Given the description of an element on the screen output the (x, y) to click on. 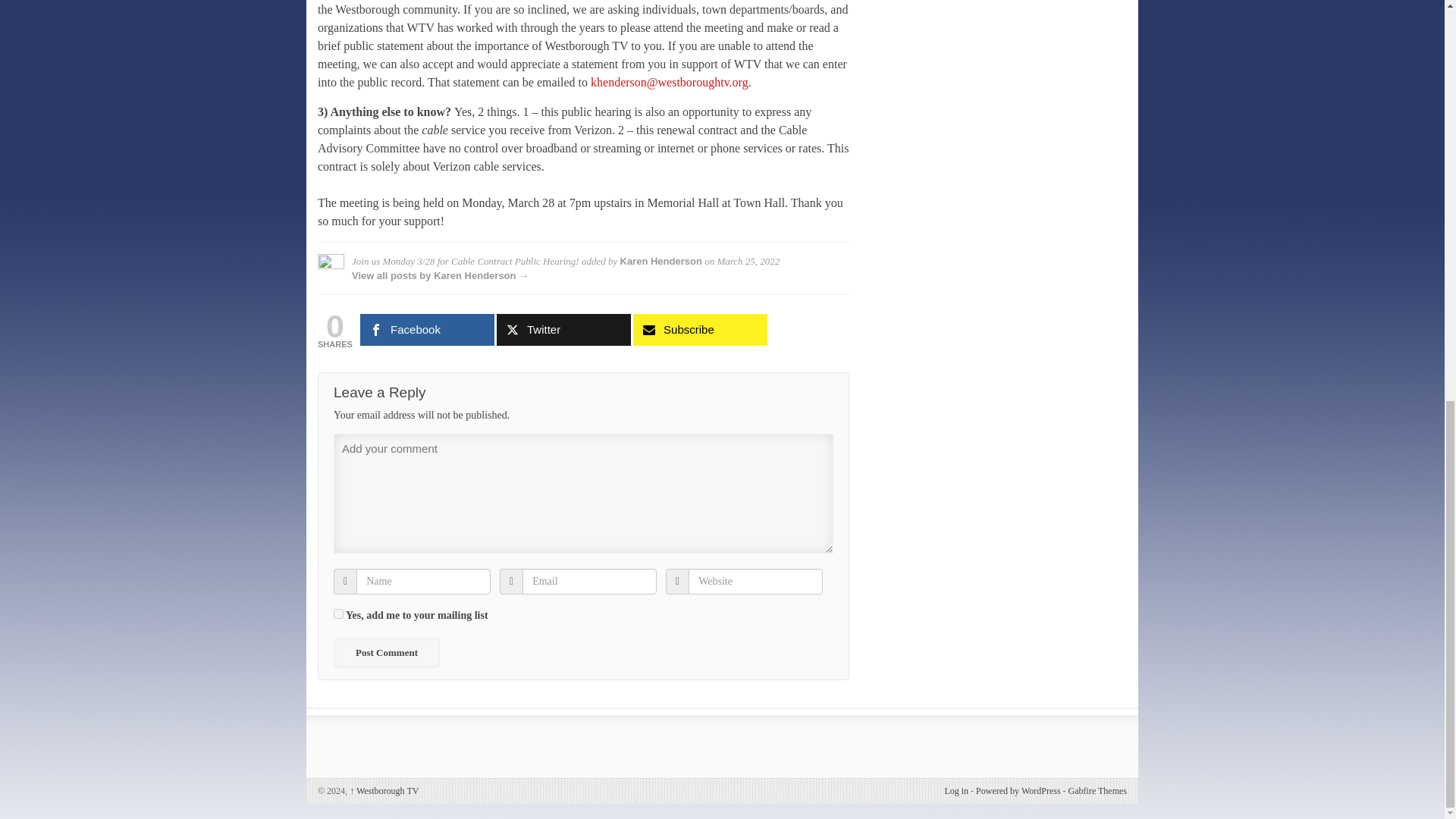
Post Comment (386, 653)
WordPress Newspaper Themes (1097, 790)
Westborough TV (384, 790)
Semantic Personal Publishing Platform (1017, 790)
1 (338, 614)
